Given the description of an element on the screen output the (x, y) to click on. 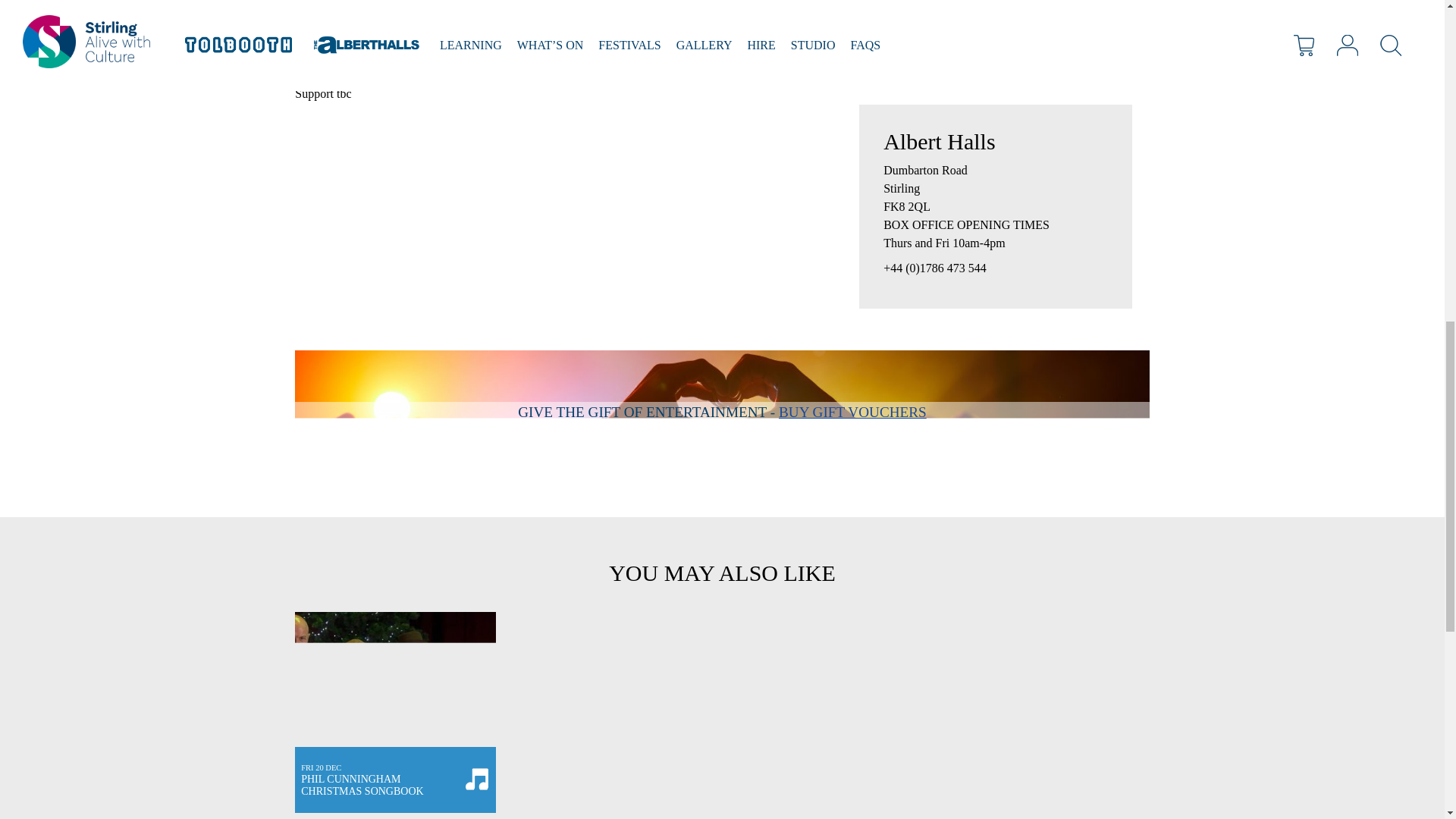
BUY GIFT VOUCHERS (852, 412)
BOOK NOW (927, 29)
